Given the description of an element on the screen output the (x, y) to click on. 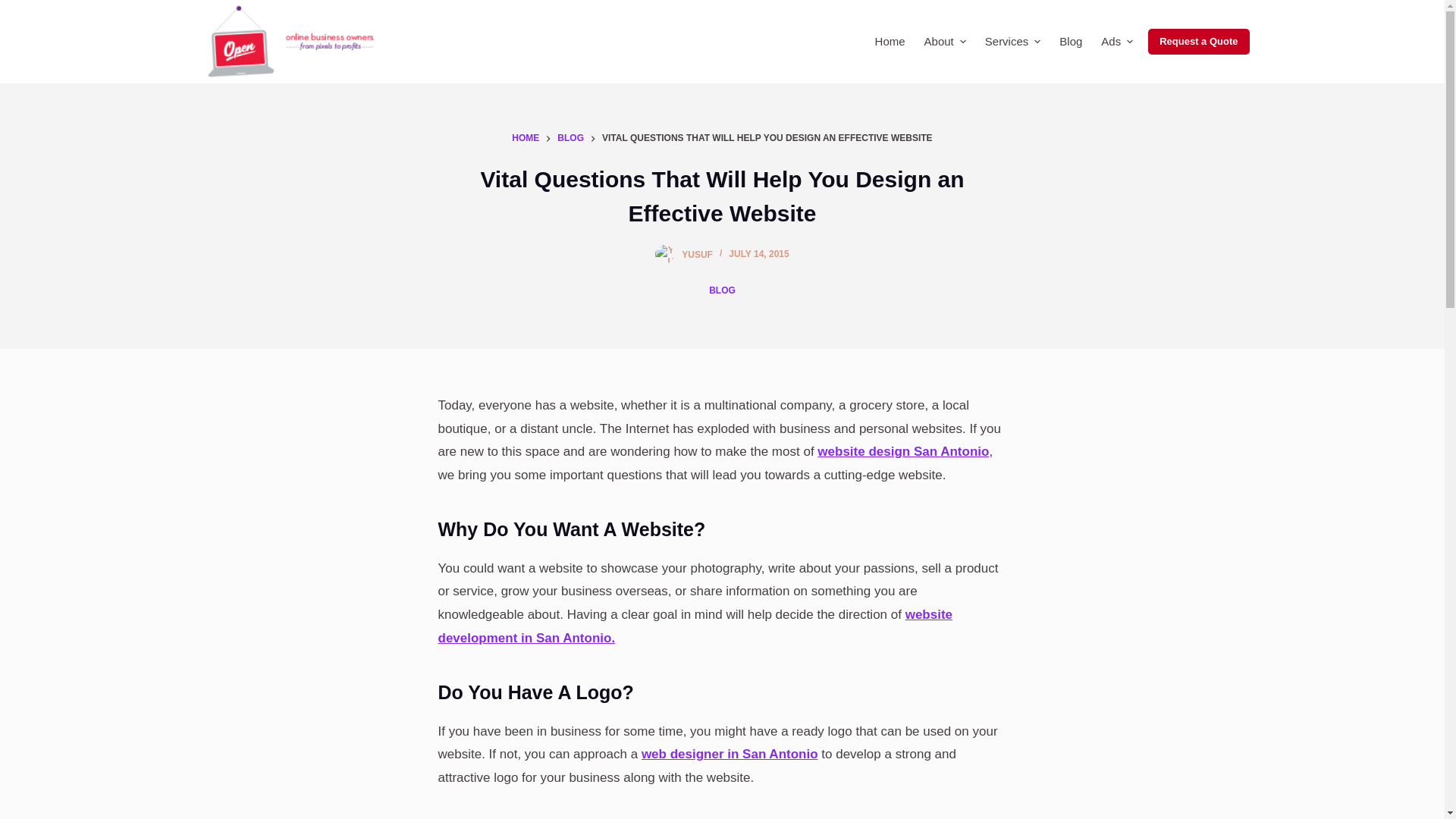
Services (1012, 41)
Posts by yusuf (697, 253)
Skip to content (15, 7)
